Given the description of an element on the screen output the (x, y) to click on. 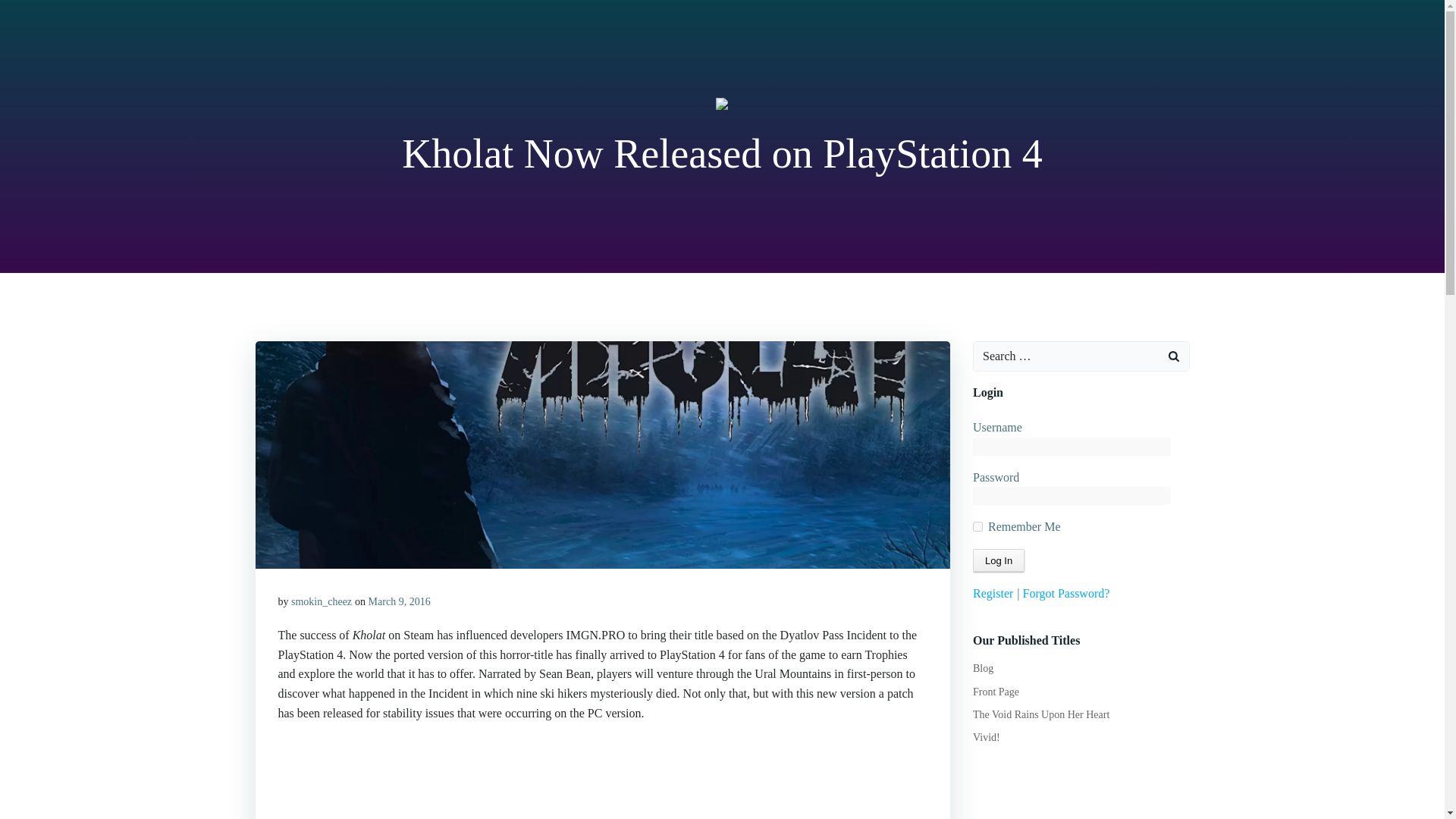
Blog (982, 668)
Forgot Password? (1066, 593)
March 9, 2016 (399, 601)
Forgot Password (1066, 593)
Front Page (995, 691)
Register (992, 593)
Vivid! (986, 737)
Register (992, 593)
Log In (998, 559)
Search  (29, 14)
forever (977, 526)
The Void Rains Upon Her Heart (1040, 714)
Log In (998, 559)
